Given the description of an element on the screen output the (x, y) to click on. 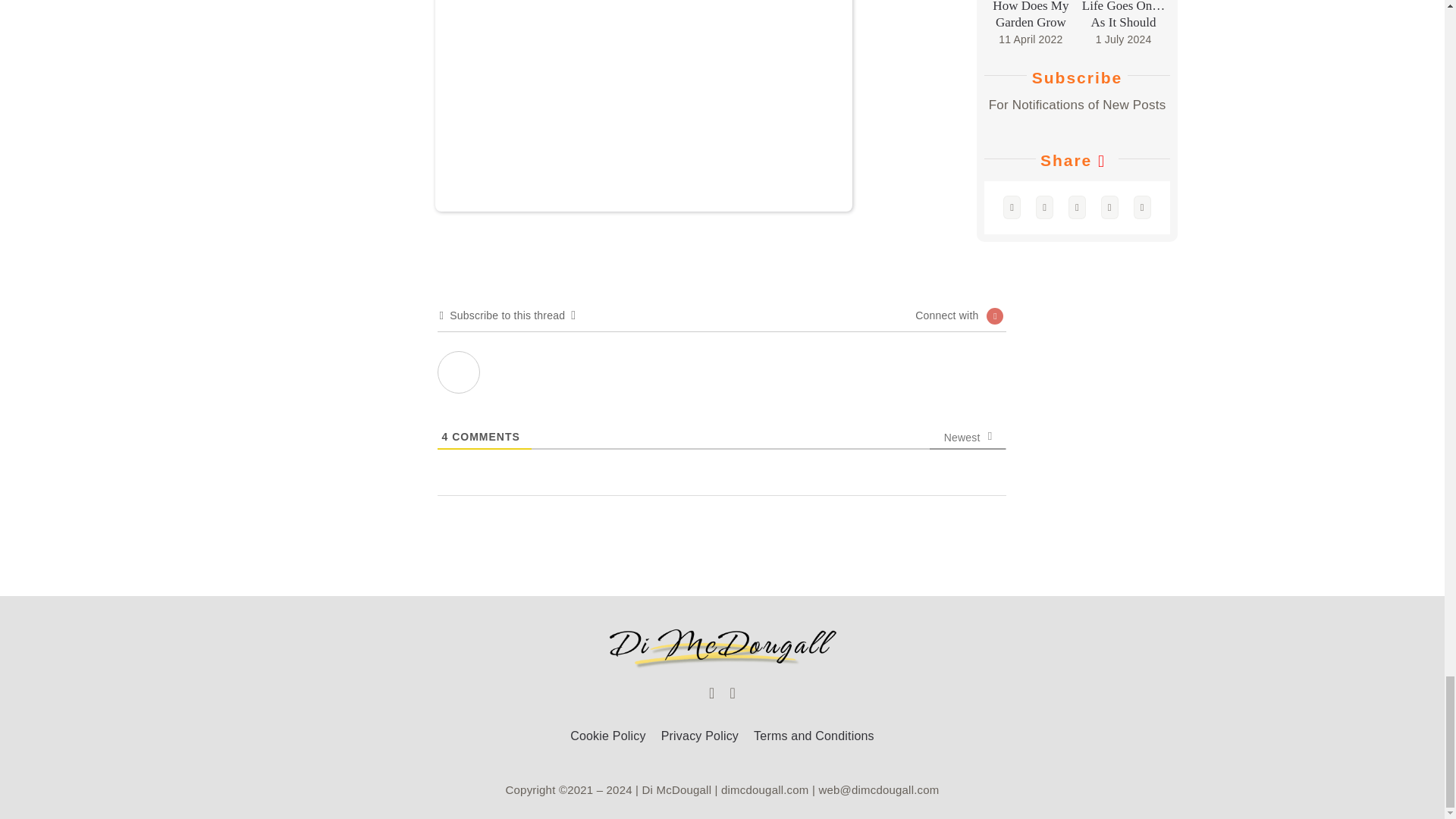
Privacy Policy (699, 736)
Cookie Policy (608, 736)
Where I Live (459, 371)
Terms and Conditions (814, 736)
mist (643, 105)
